Given the description of an element on the screen output the (x, y) to click on. 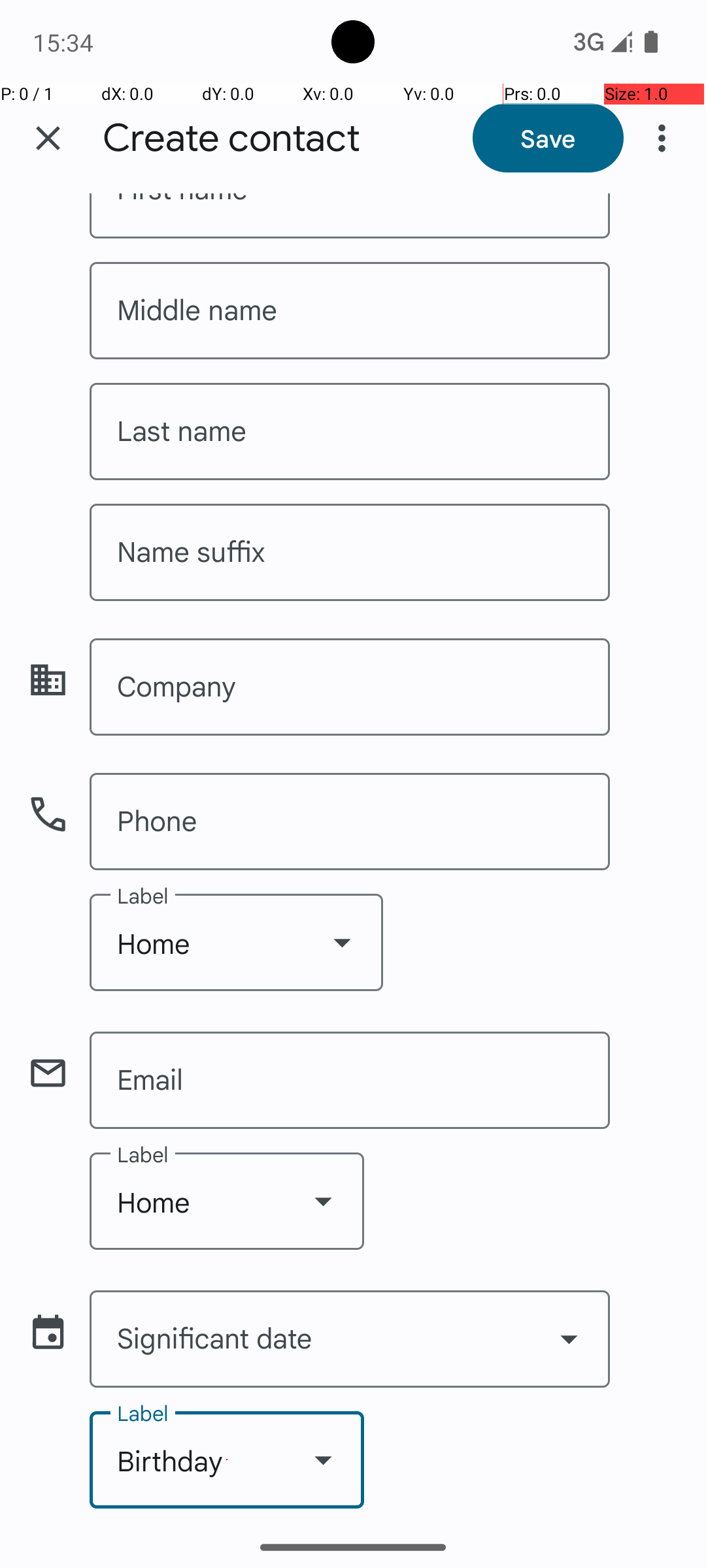
Create contact Element type: android.widget.TextView (231, 138)
Save Element type: android.widget.Button (547, 137)
First name Element type: android.widget.EditText (349, 215)
Middle name Element type: android.widget.EditText (349, 310)
Last name Element type: android.widget.EditText (349, 431)
Name suffix Element type: android.widget.EditText (349, 552)
Company Element type: android.widget.EditText (349, 686)
Show dropdown menu Element type: android.widget.ImageButton (341, 941)
Email Element type: android.widget.EditText (349, 1079)
Significant date Element type: android.widget.EditText (349, 1338)
Show date picker Element type: android.widget.ImageButton (568, 1338)
Birthday Element type: android.widget.Spinner (226, 1459)
